Given the description of an element on the screen output the (x, y) to click on. 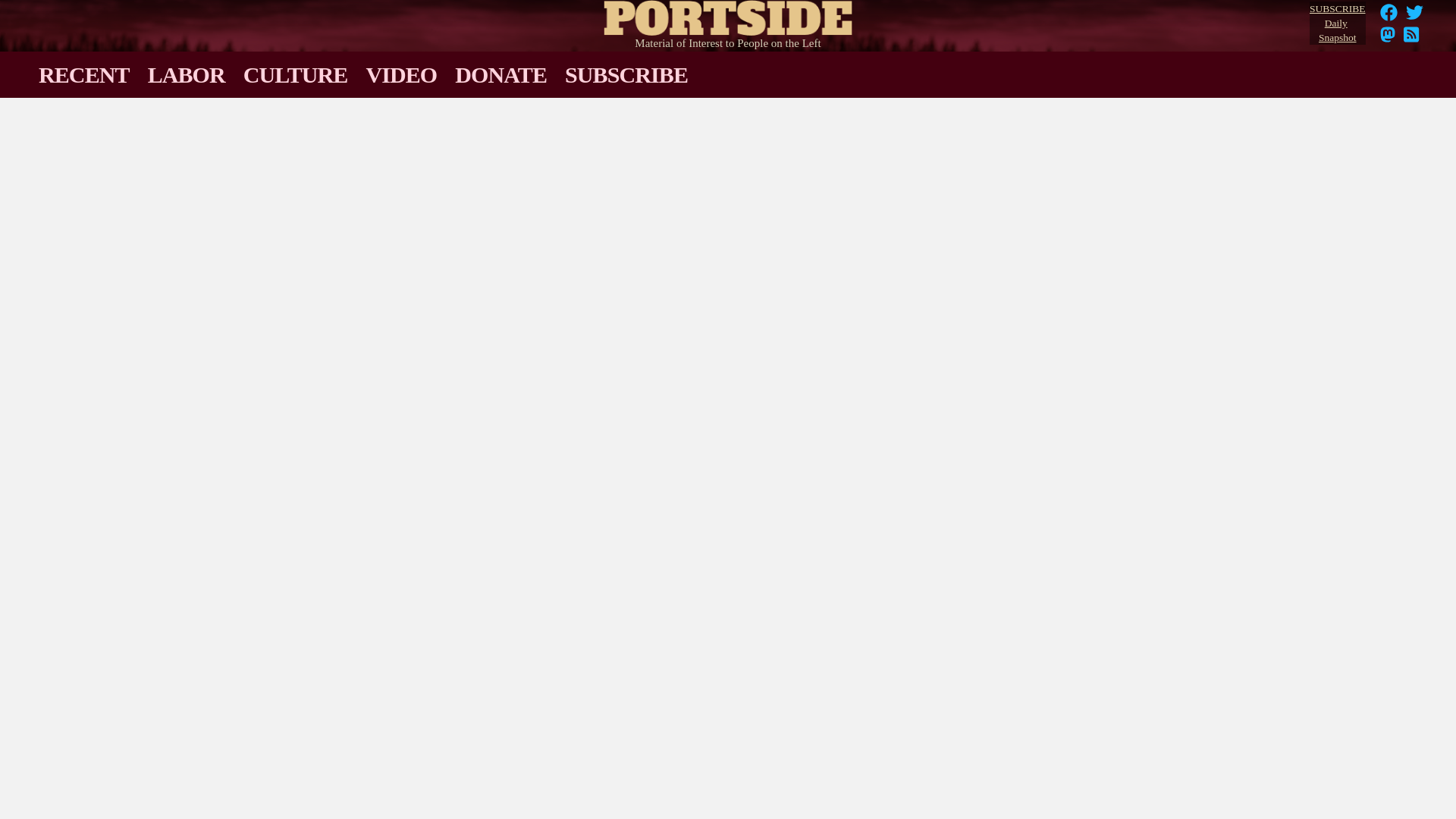
Twitter (1414, 11)
Follow Portside on Twitter (1414, 16)
Facebook (1388, 16)
Facebook (1388, 11)
Home (727, 14)
Twitter (1414, 16)
Follow Portside on Facebook (1388, 16)
Follow Portside on Mastodon (1336, 23)
Follow Portside's RSS feed (1387, 39)
Mastodon (1411, 39)
RSS (1387, 39)
